Given the description of an element on the screen output the (x, y) to click on. 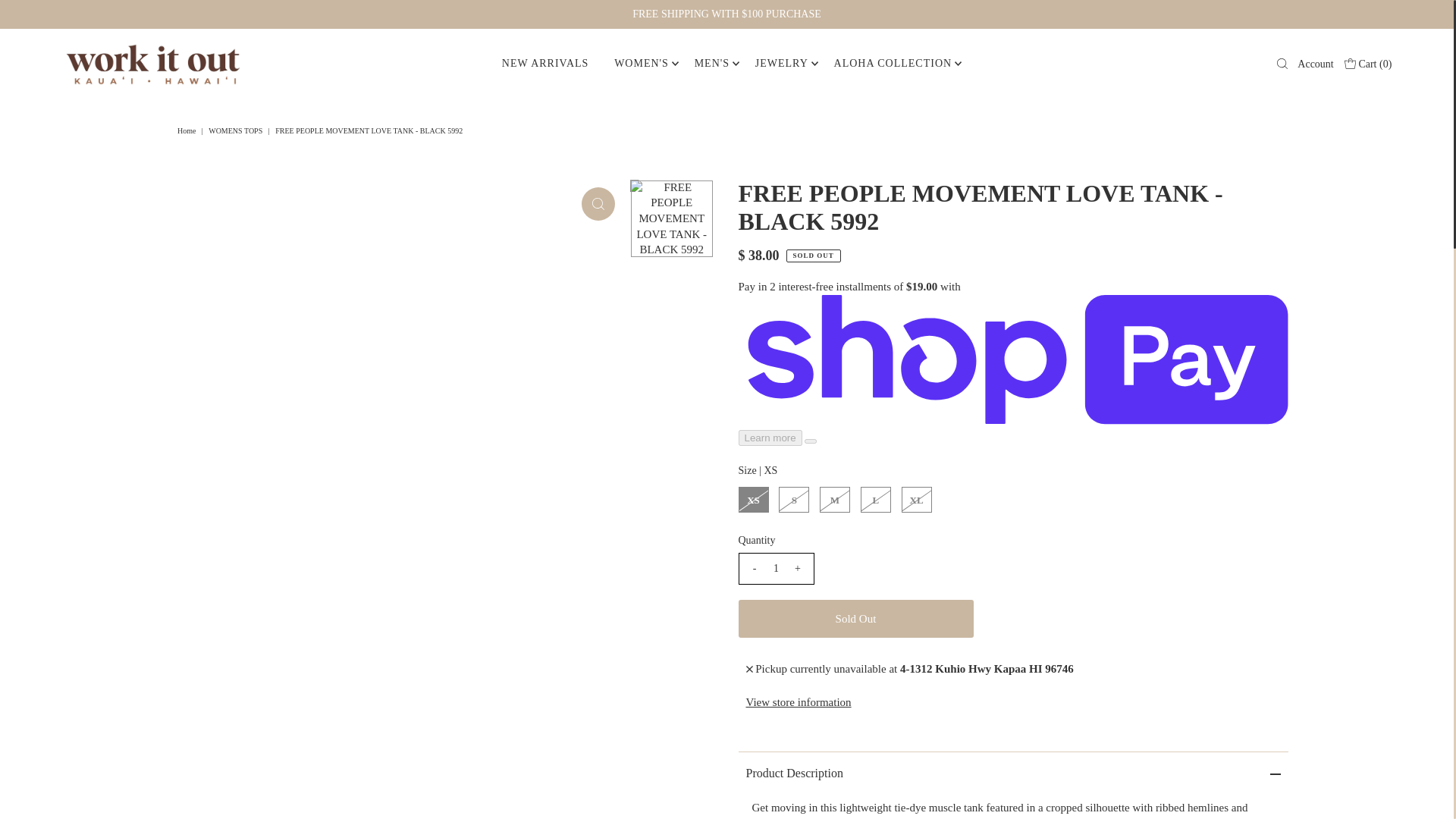
Home (188, 130)
WOMENS TOPS (237, 130)
NEW ARRIVALS (544, 62)
MEN'S (711, 62)
Sold Out (856, 618)
WOMEN'S (640, 62)
Click to zoom (597, 203)
